Given the description of an element on the screen output the (x, y) to click on. 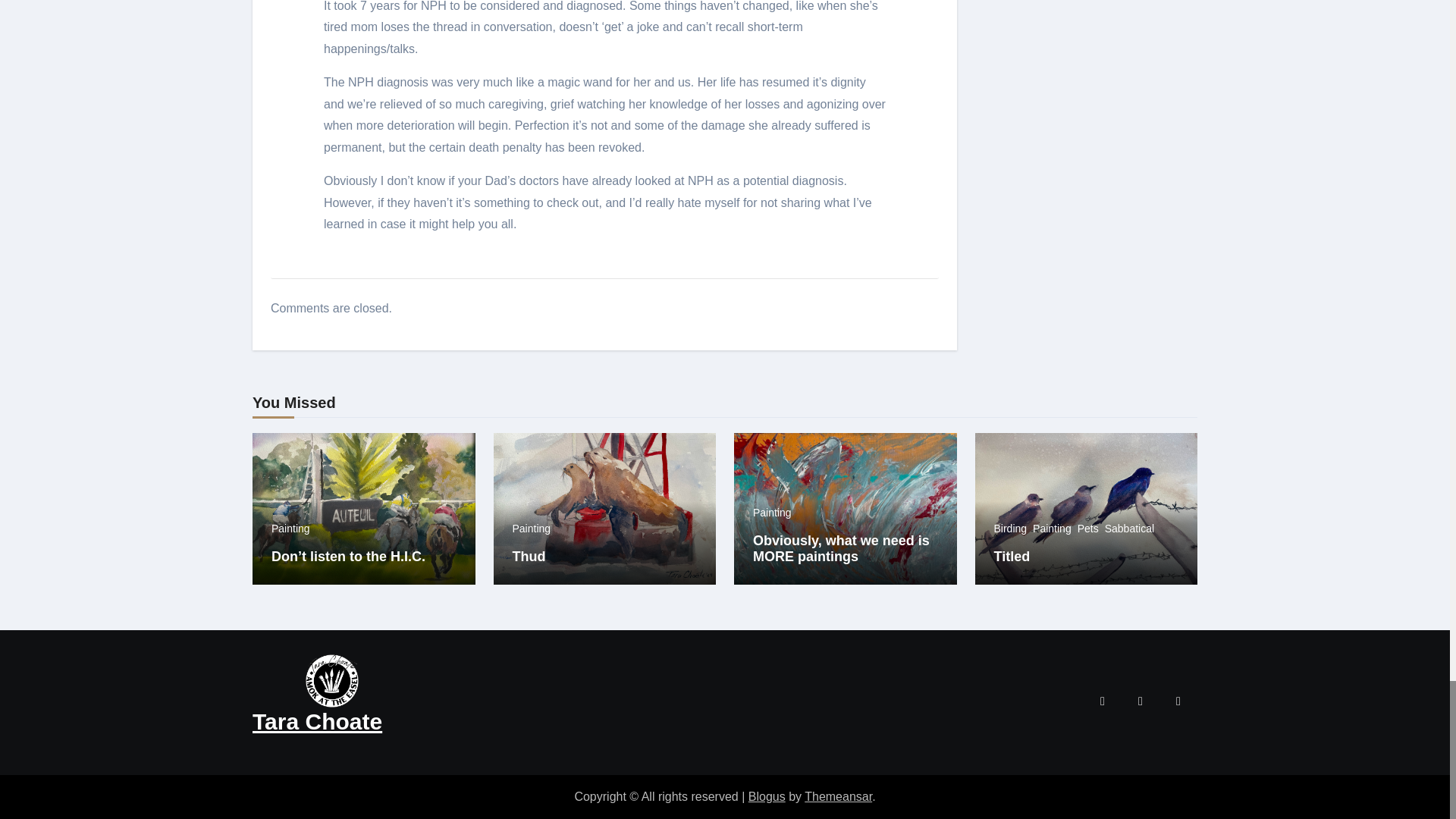
Permalink to: Thud (529, 556)
Permalink to: Obviously, what we need is MORE paintings (841, 549)
Permalink to: Titled (1010, 556)
